Given the description of an element on the screen output the (x, y) to click on. 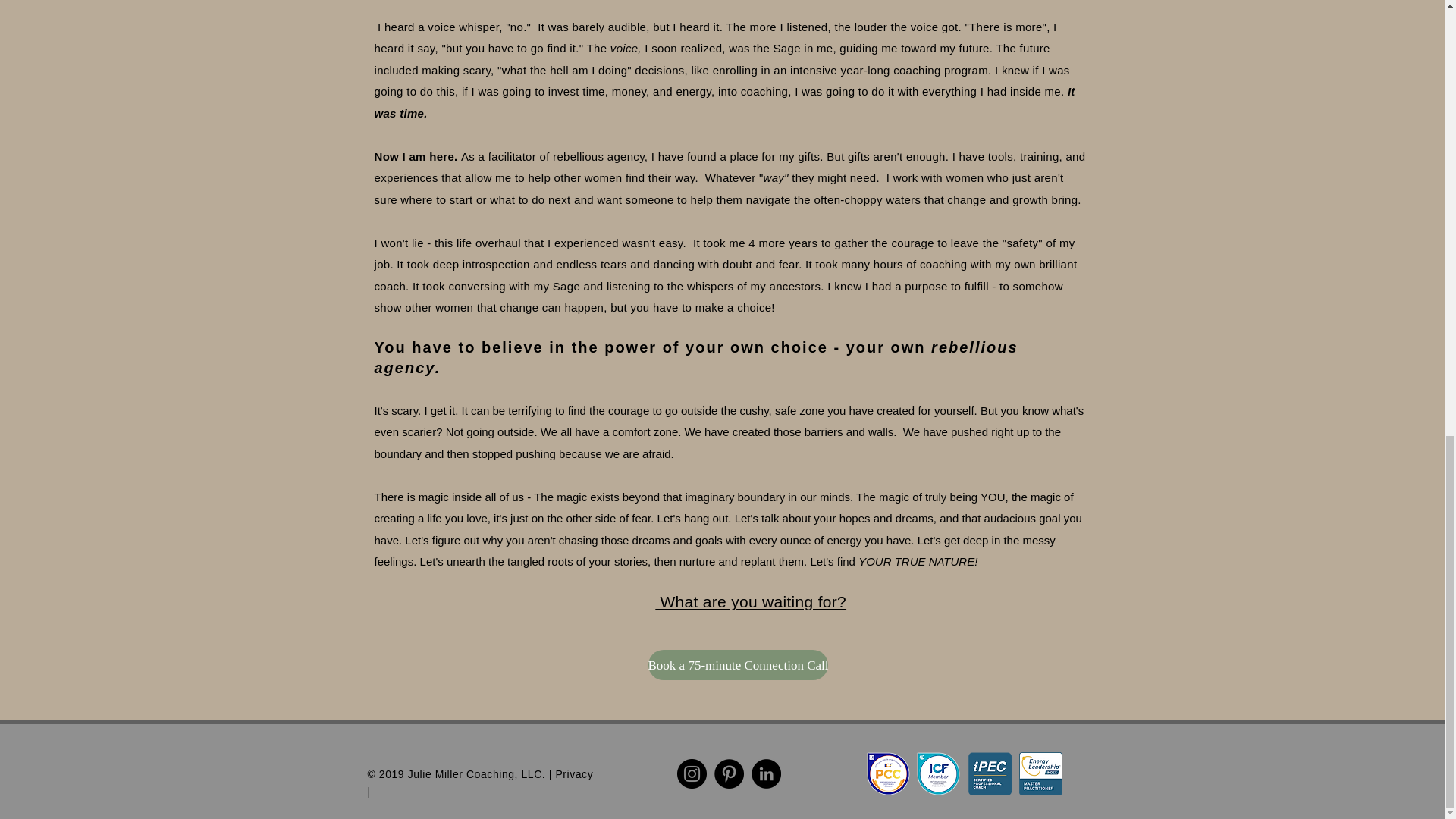
Book a 75-minute Connection Call (737, 665)
